Given the description of an element on the screen output the (x, y) to click on. 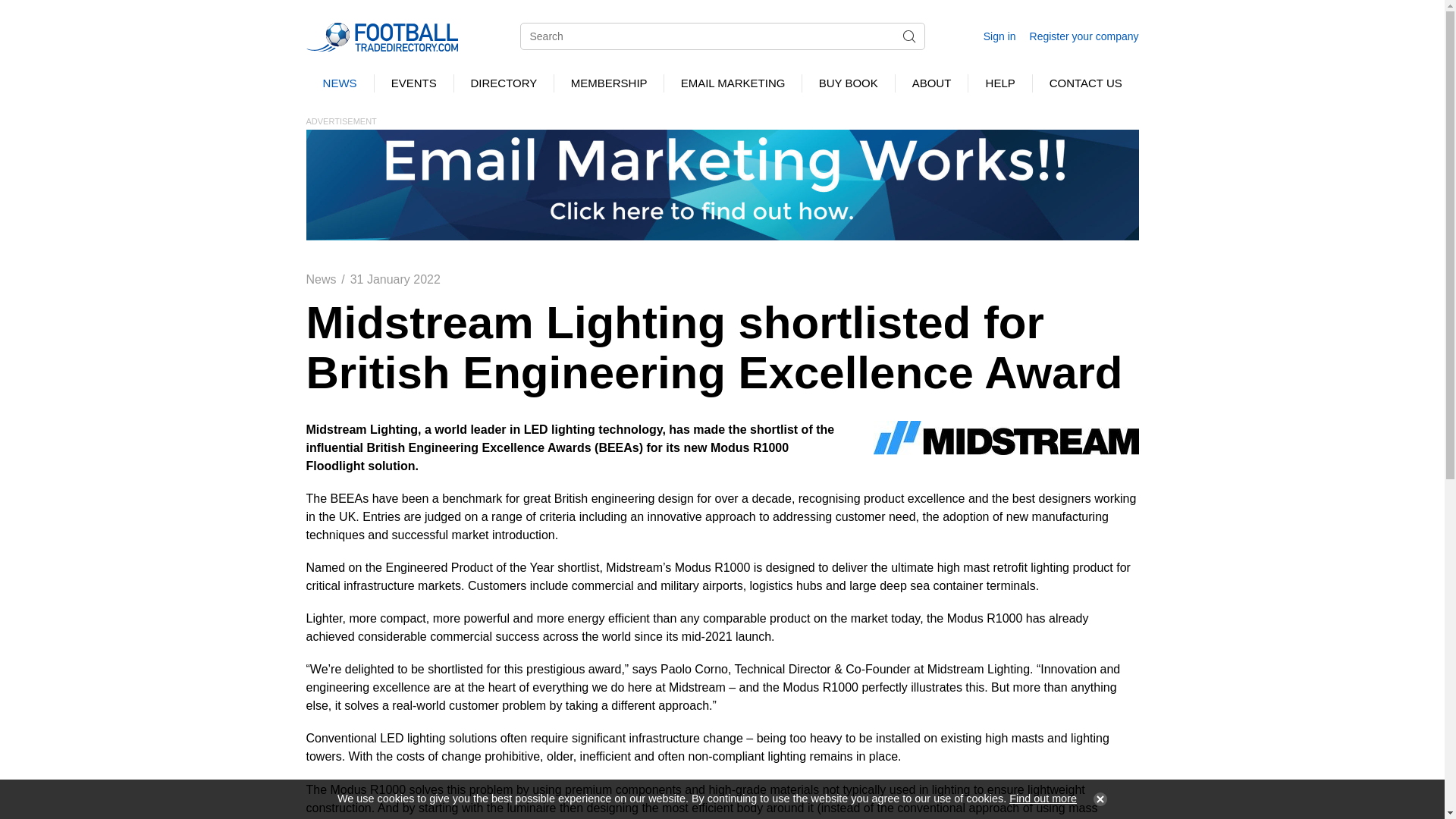
Email marketing (721, 183)
Search (908, 36)
NEWS (339, 83)
Register your company (1083, 35)
Continue (1096, 799)
EVENTS (413, 83)
DIRECTORY (503, 83)
Midstream-Logo (1005, 437)
